Given the description of an element on the screen output the (x, y) to click on. 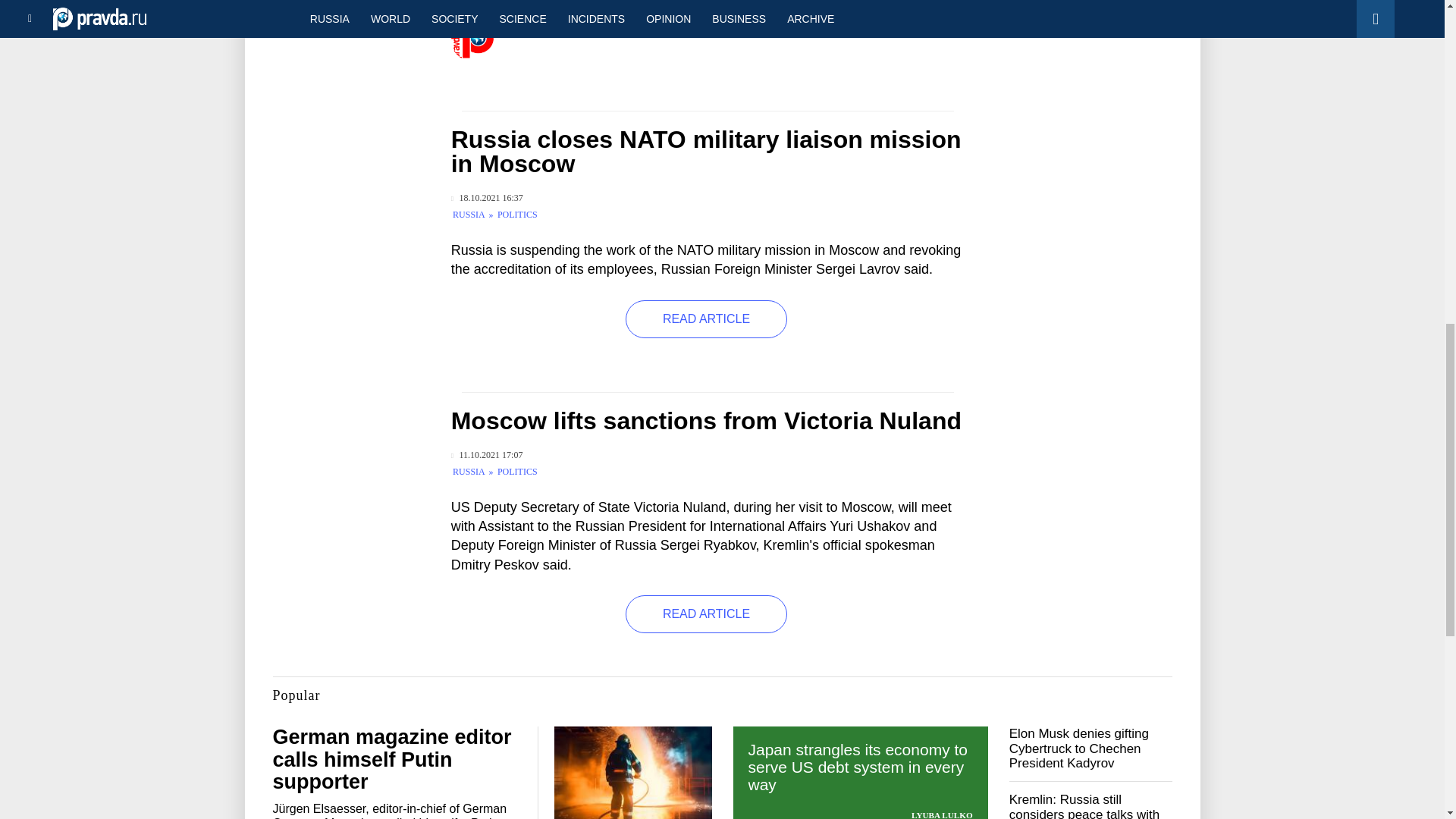
Published (486, 455)
Back to top (1418, 79)
Ukraine launches 12 ATACMS missiles targeting Crimea Bridge (346, 18)
Published (486, 197)
Editorial Team (604, 24)
